Given the description of an element on the screen output the (x, y) to click on. 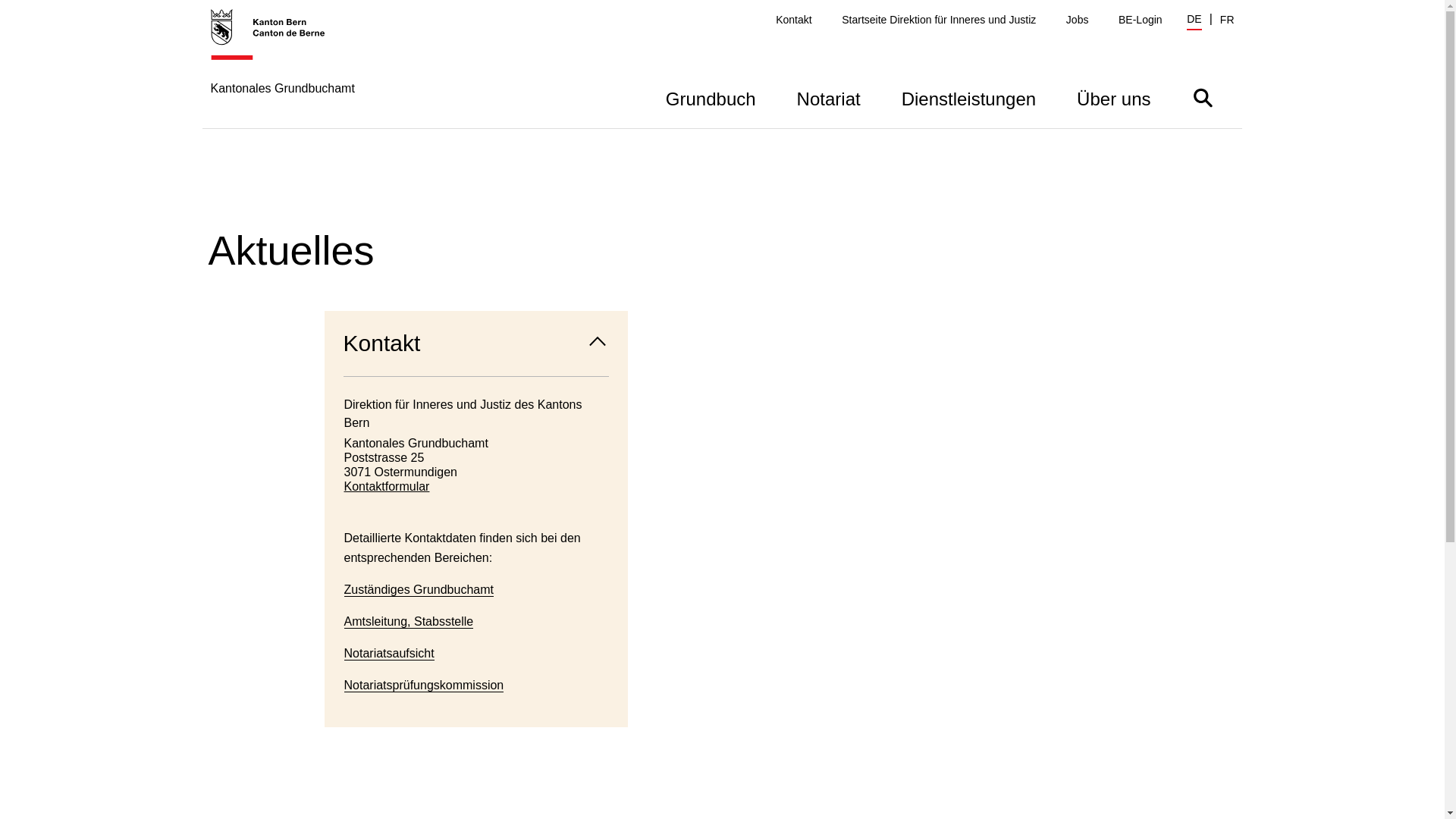
Notariat Element type: text (828, 96)
FR Element type: text (1227, 19)
Kontakt Element type: text (793, 19)
Notariatsaufsicht Element type: text (389, 653)
BE-Login Element type: text (1140, 19)
Grundbuch Element type: text (710, 96)
DE Element type: text (1193, 21)
Amtsleitung, Stabsstelle Element type: text (408, 621)
Jobs Element type: text (1077, 19)
Kontakt Element type: text (475, 343)
Kontaktformular Element type: text (476, 486)
Suche ein- oder ausblenden Element type: text (1201, 96)
Kantonales Grundbuchamt Element type: text (282, 68)
Dienstleistungen Element type: text (968, 96)
